Given the description of an element on the screen output the (x, y) to click on. 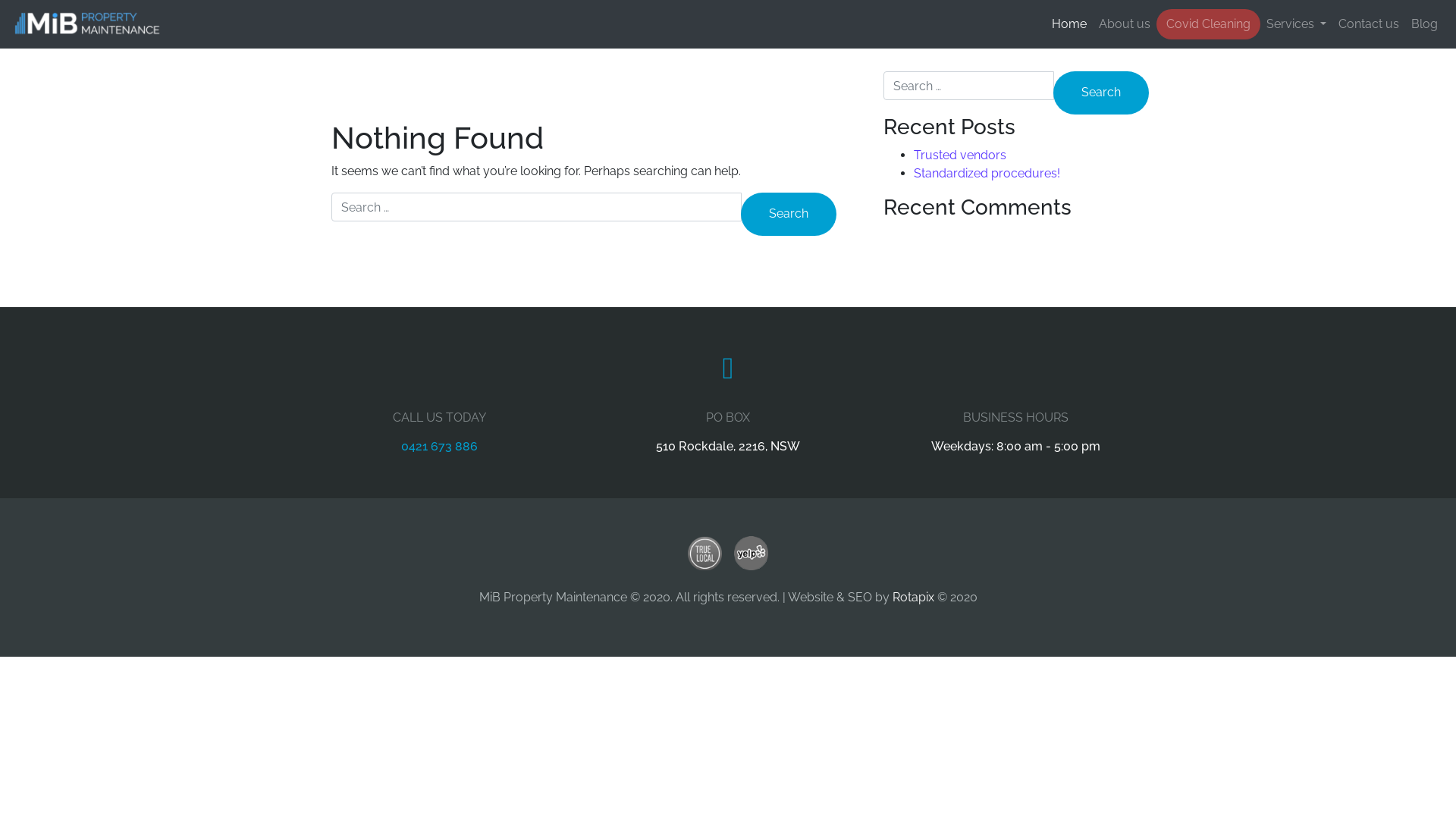
Covid Cleaning Element type: text (1208, 24)
Home
(current) Element type: text (1068, 24)
Trusted vendors Element type: text (959, 154)
About us Element type: text (1124, 24)
Search Element type: text (788, 213)
Contact us Element type: text (1368, 24)
Search Element type: text (1100, 92)
Rotapix Element type: text (912, 596)
Blog Element type: text (1424, 24)
Services Element type: text (1296, 24)
0421 673 886 Element type: text (439, 446)
Standardized procedures! Element type: text (986, 173)
